Given the description of an element on the screen output the (x, y) to click on. 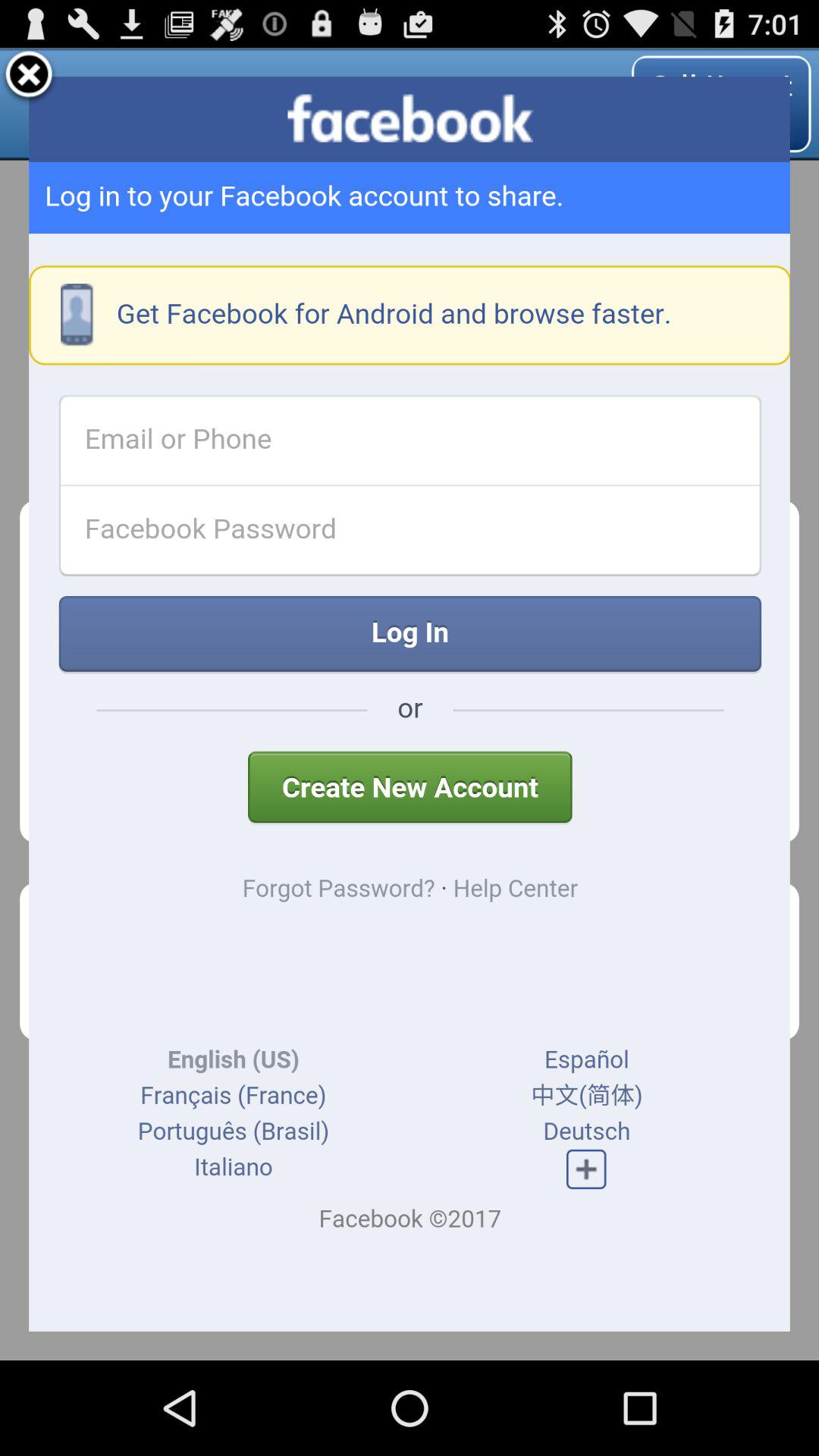
close the window (29, 76)
